Given the description of an element on the screen output the (x, y) to click on. 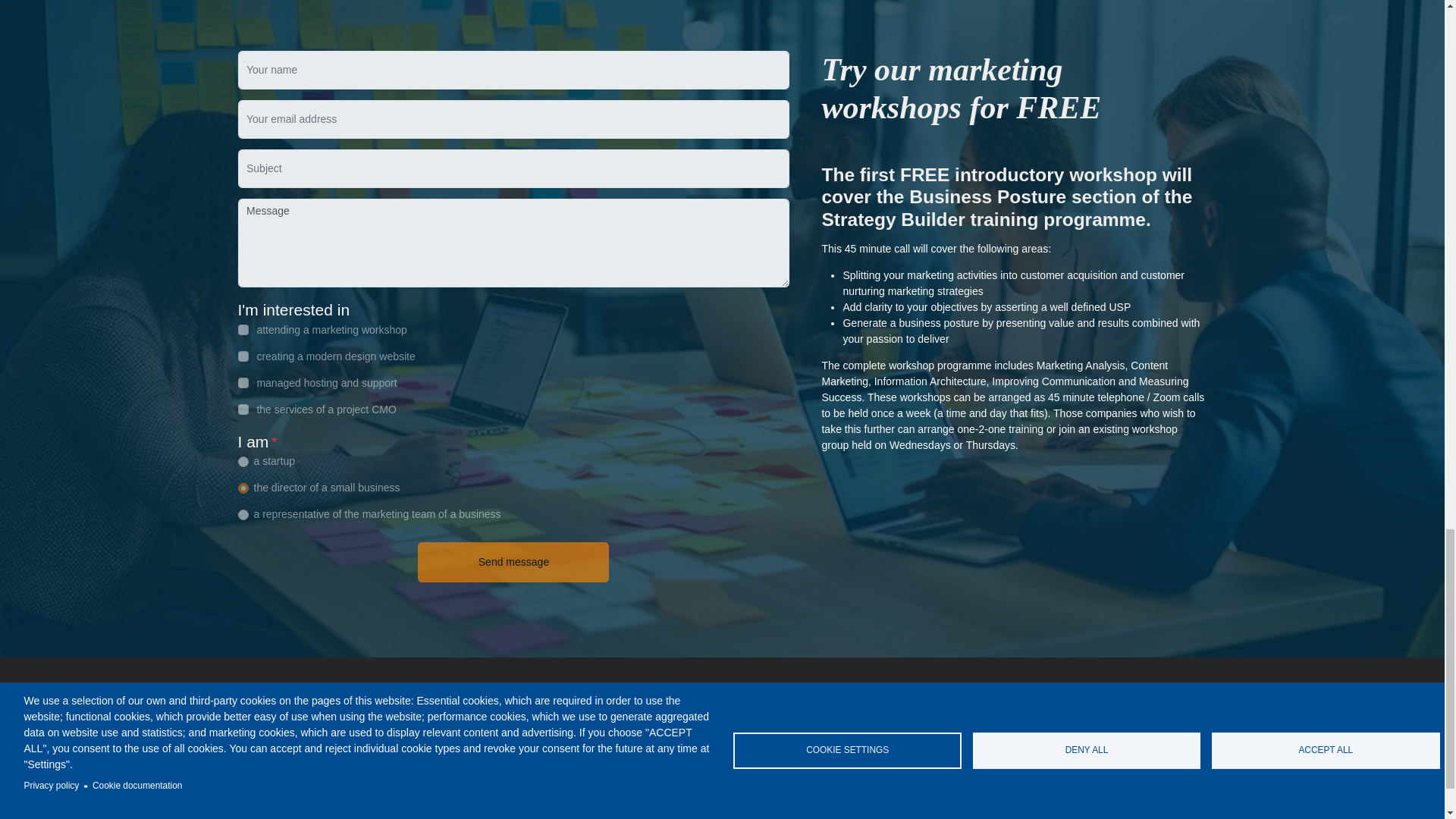
Messaging strategy (783, 784)
Send message (512, 562)
Workshops (598, 720)
Business identiy (778, 720)
Coherent Content Marketing (781, 752)
Modern web design (617, 736)
Information Architecture (794, 767)
Marketing analysis (782, 736)
Managed hosting and support (623, 759)
Business analytics (781, 799)
